Given the description of an element on the screen output the (x, y) to click on. 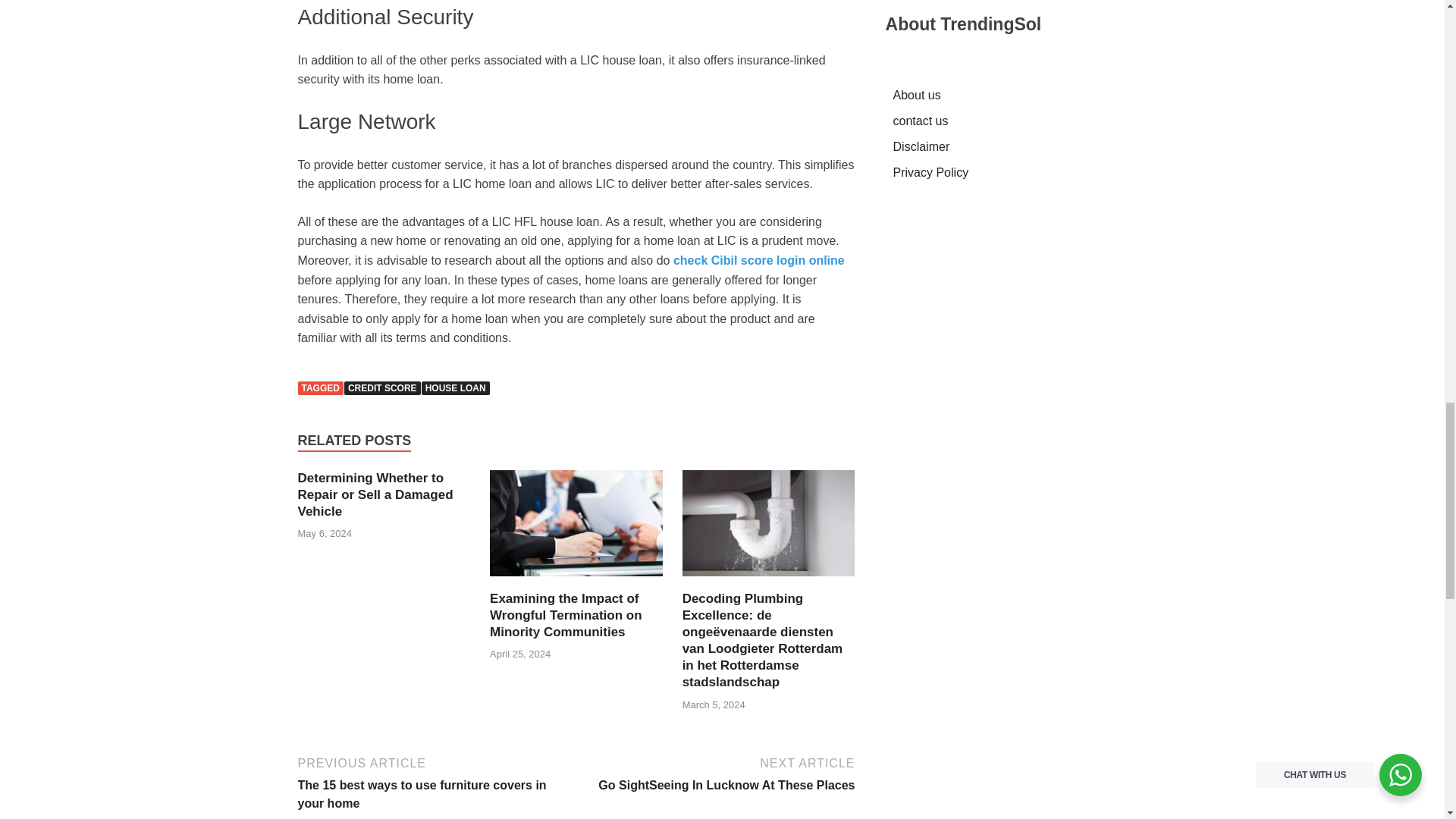
HOUSE LOAN (455, 387)
check Cibil score login online (758, 259)
CREDIT SCORE (381, 387)
Determining Whether to Repair or Sell a Damaged Vehicle (374, 494)
